Given the description of an element on the screen output the (x, y) to click on. 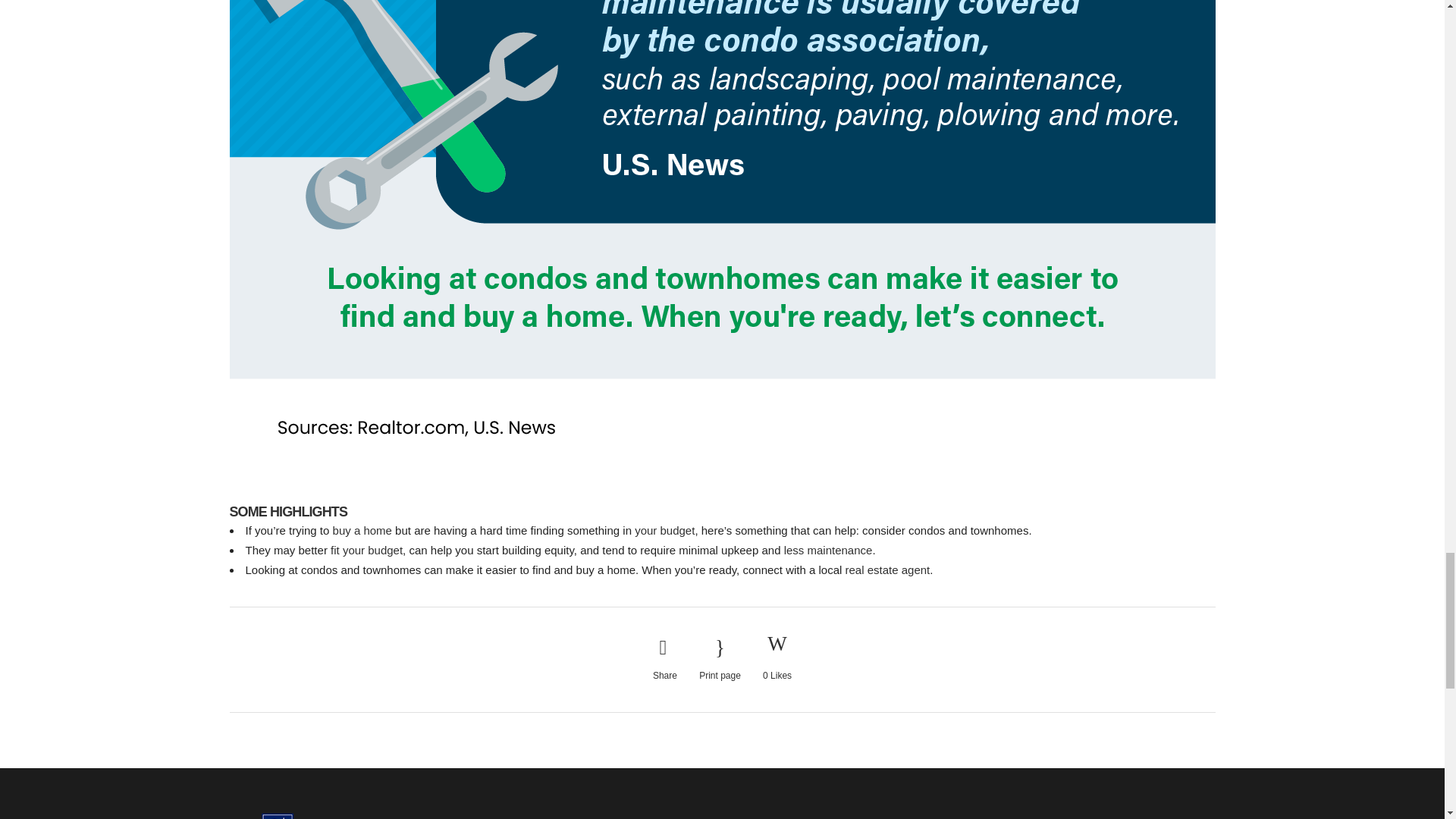
less maintenance (828, 549)
Print page (719, 659)
buy a home (362, 530)
real estate agent (887, 569)
fit your budget (366, 549)
your budget (664, 530)
